Given the description of an element on the screen output the (x, y) to click on. 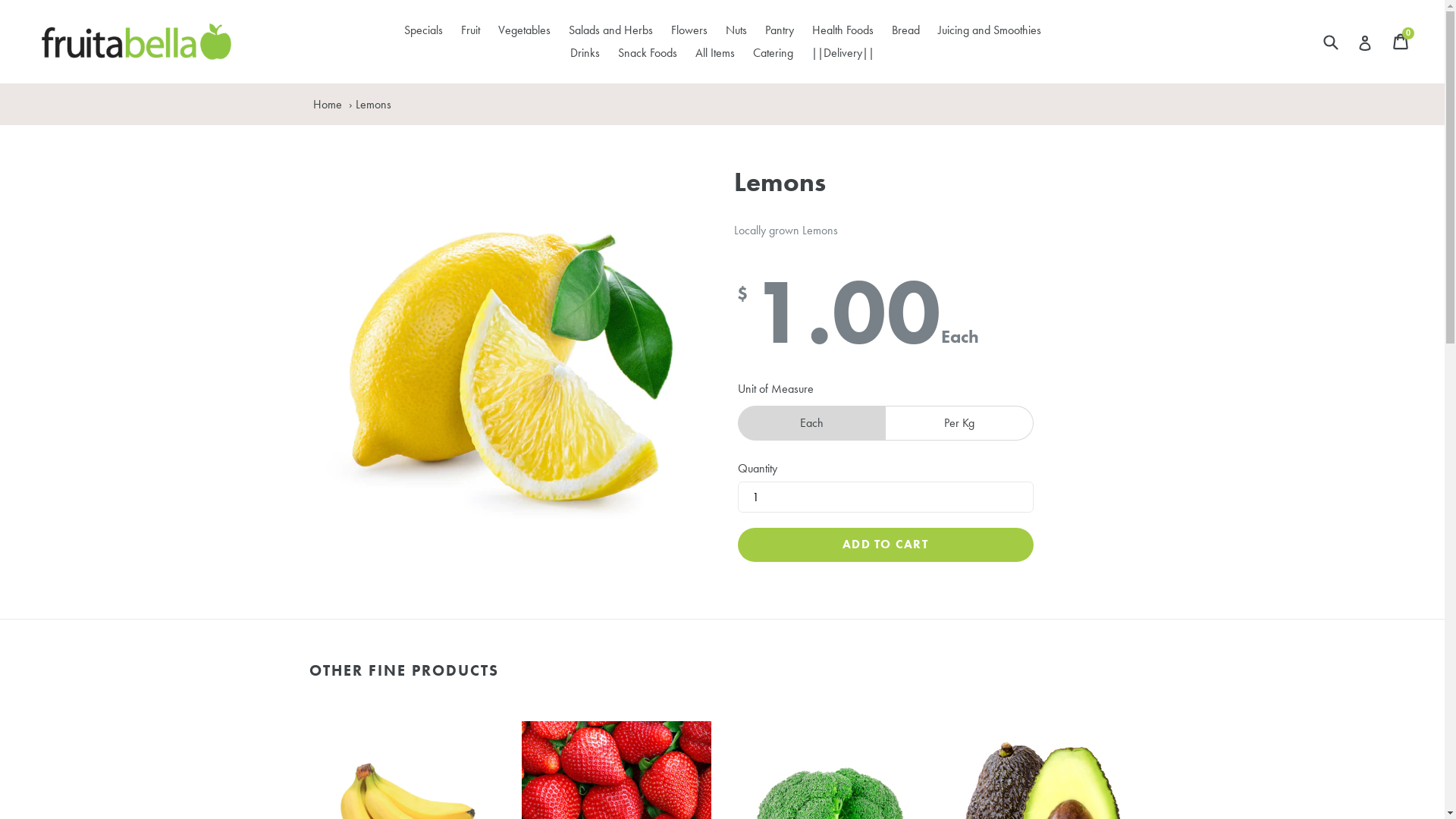
Health Foods Element type: text (841, 29)
Juicing and Smoothies Element type: text (988, 29)
ADD TO CART Element type: text (884, 544)
Nuts Element type: text (735, 29)
||Delivery|| Element type: text (842, 52)
Drinks Element type: text (584, 52)
Bread Element type: text (905, 29)
Pantry Element type: text (778, 29)
Flowers Element type: text (688, 29)
Vegetables Element type: text (523, 29)
Fruit Element type: text (470, 29)
Cart
Cart
0 Element type: text (1401, 41)
Salads and Herbs Element type: text (610, 29)
All Items Element type: text (714, 52)
Specials Element type: text (422, 29)
Home Element type: text (327, 104)
Log in Element type: text (1364, 41)
Submit Element type: text (1329, 40)
Snack Foods Element type: text (647, 52)
Catering Element type: text (772, 52)
